Given the description of an element on the screen output the (x, y) to click on. 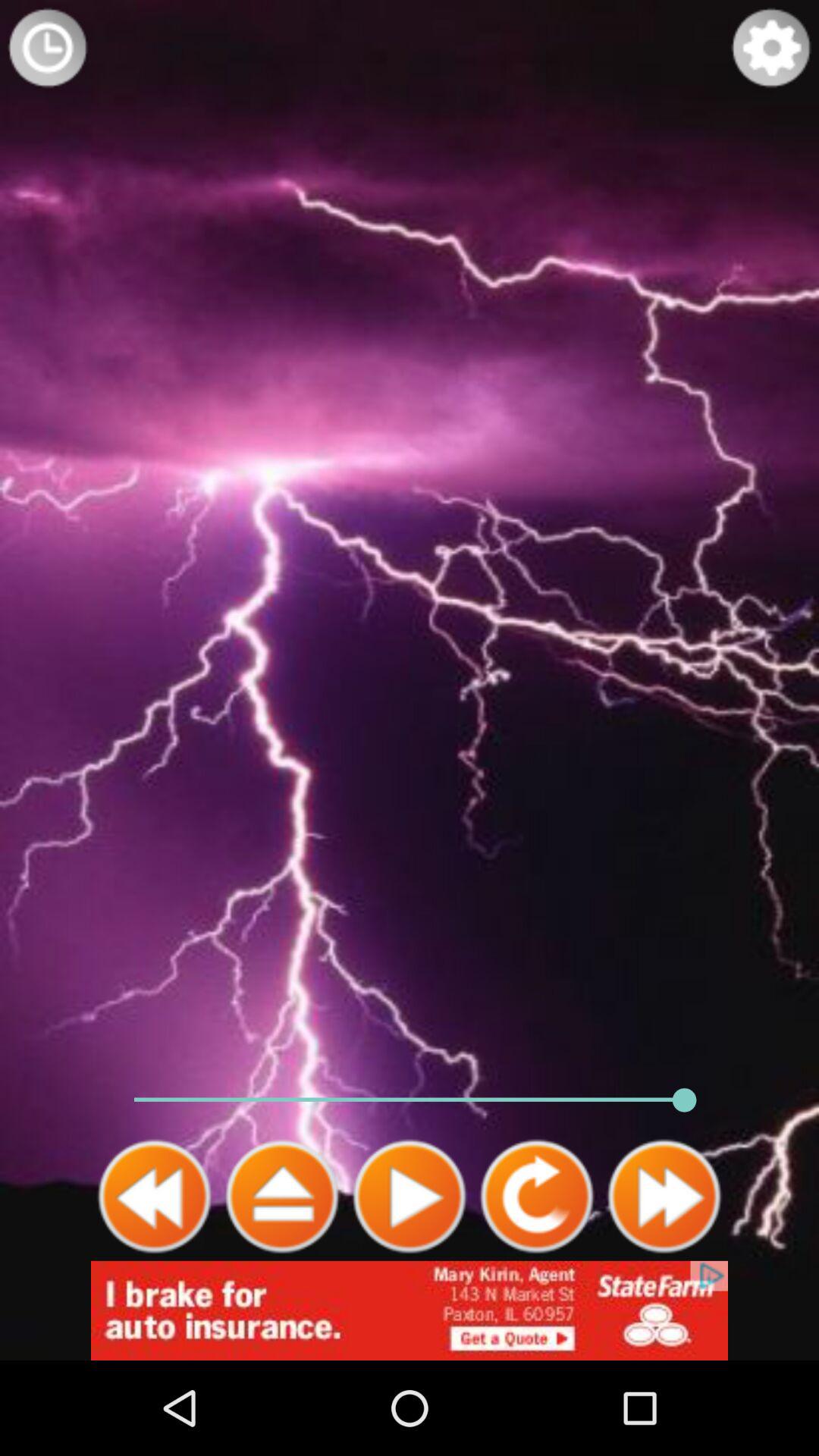
go back (154, 1196)
